Given the description of an element on the screen output the (x, y) to click on. 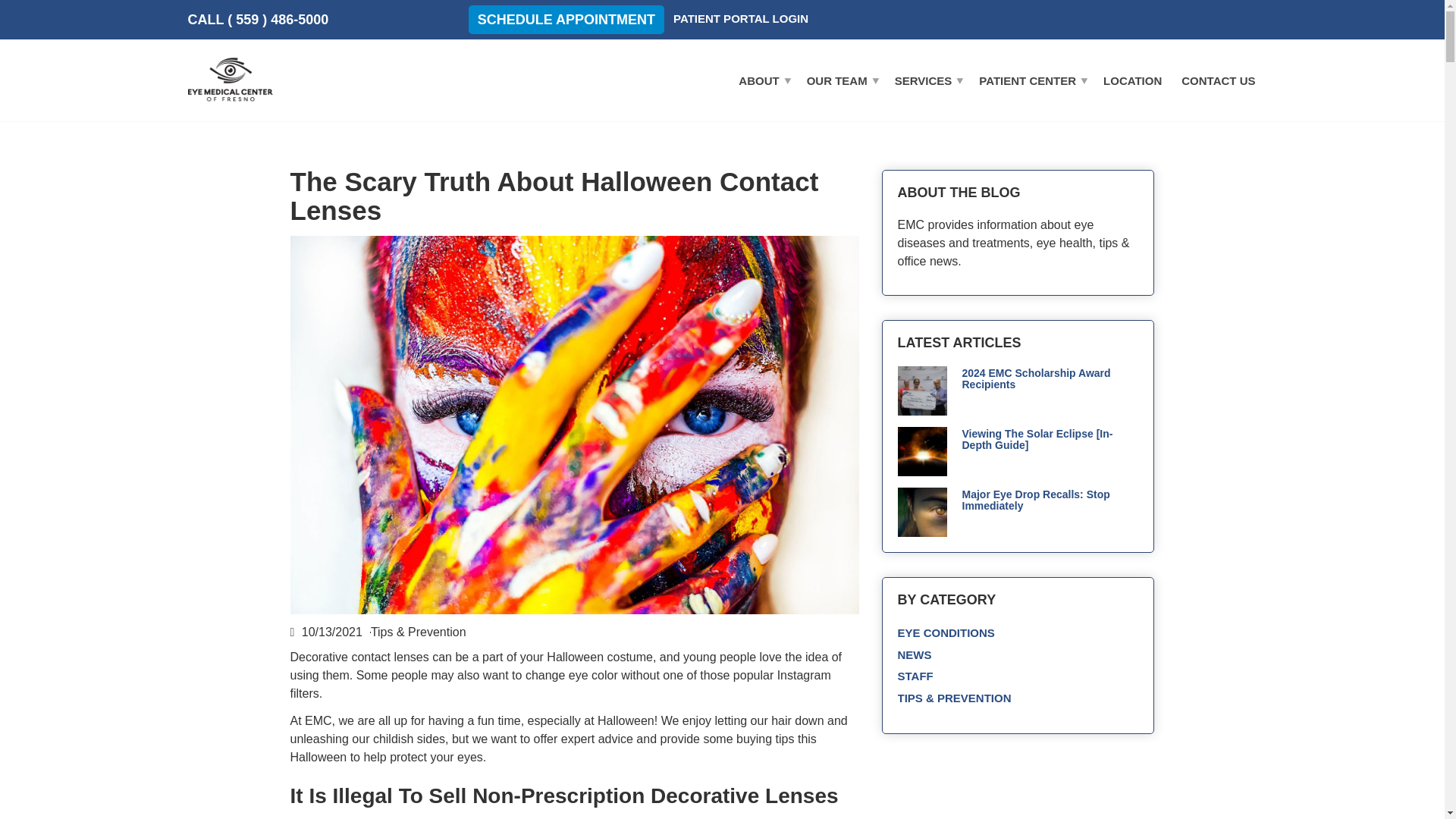
LOCATION (1132, 79)
PATIENT CENTER (1031, 79)
Services (927, 79)
Send us your appointment request (565, 19)
OUR TEAM (840, 79)
PATIENT PORTAL LOGIN (739, 17)
Our Team (840, 79)
Click to call us now! (258, 19)
About (762, 79)
SERVICES (927, 79)
